Given the description of an element on the screen output the (x, y) to click on. 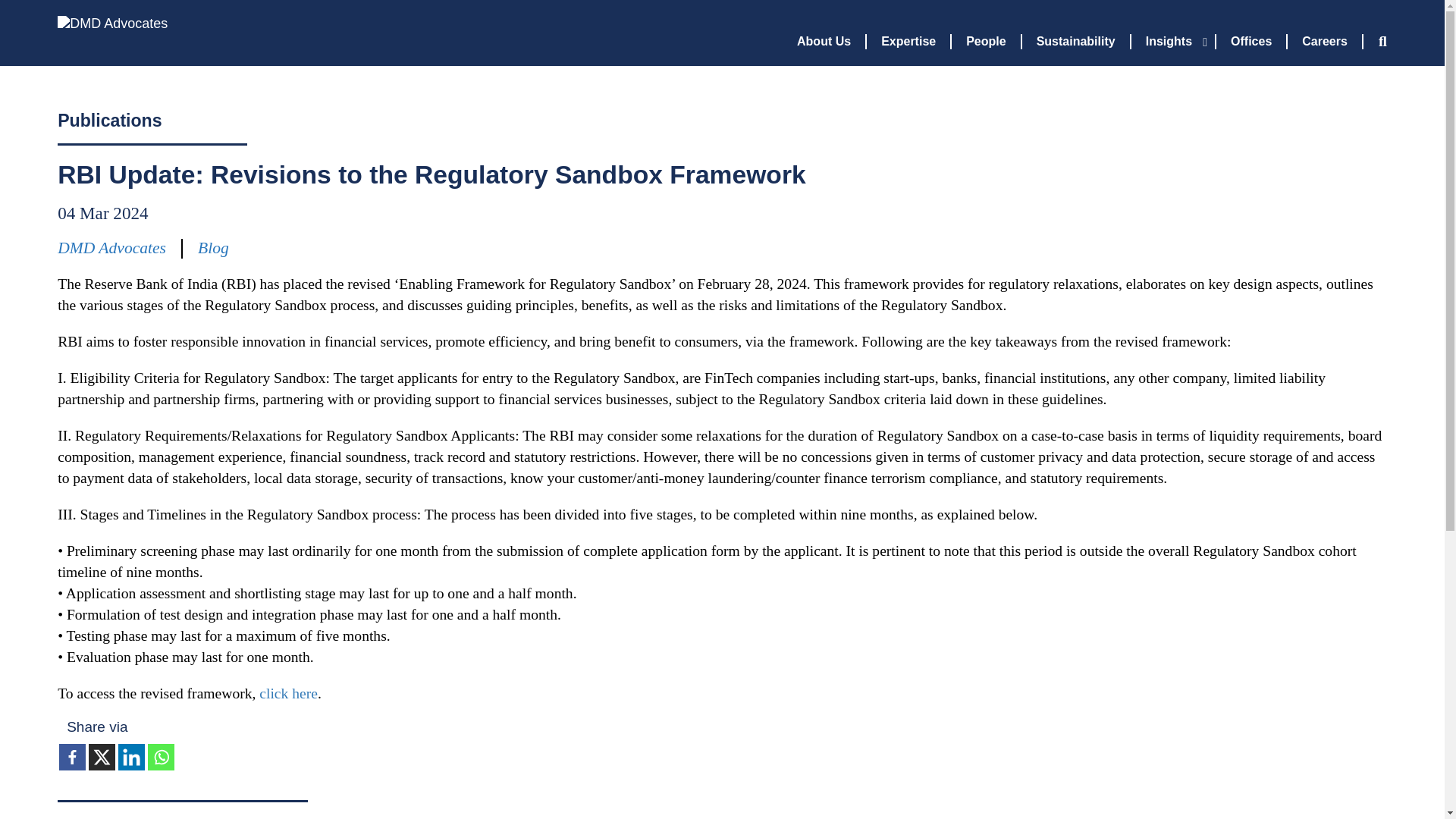
People (987, 41)
About Us (824, 41)
Careers (1324, 41)
Insights (1173, 41)
Sustainability (1076, 41)
DMD Advocates (103, 38)
Linkedin (130, 756)
Facebook (72, 756)
Offices (1251, 41)
click here (288, 693)
